Given the description of an element on the screen output the (x, y) to click on. 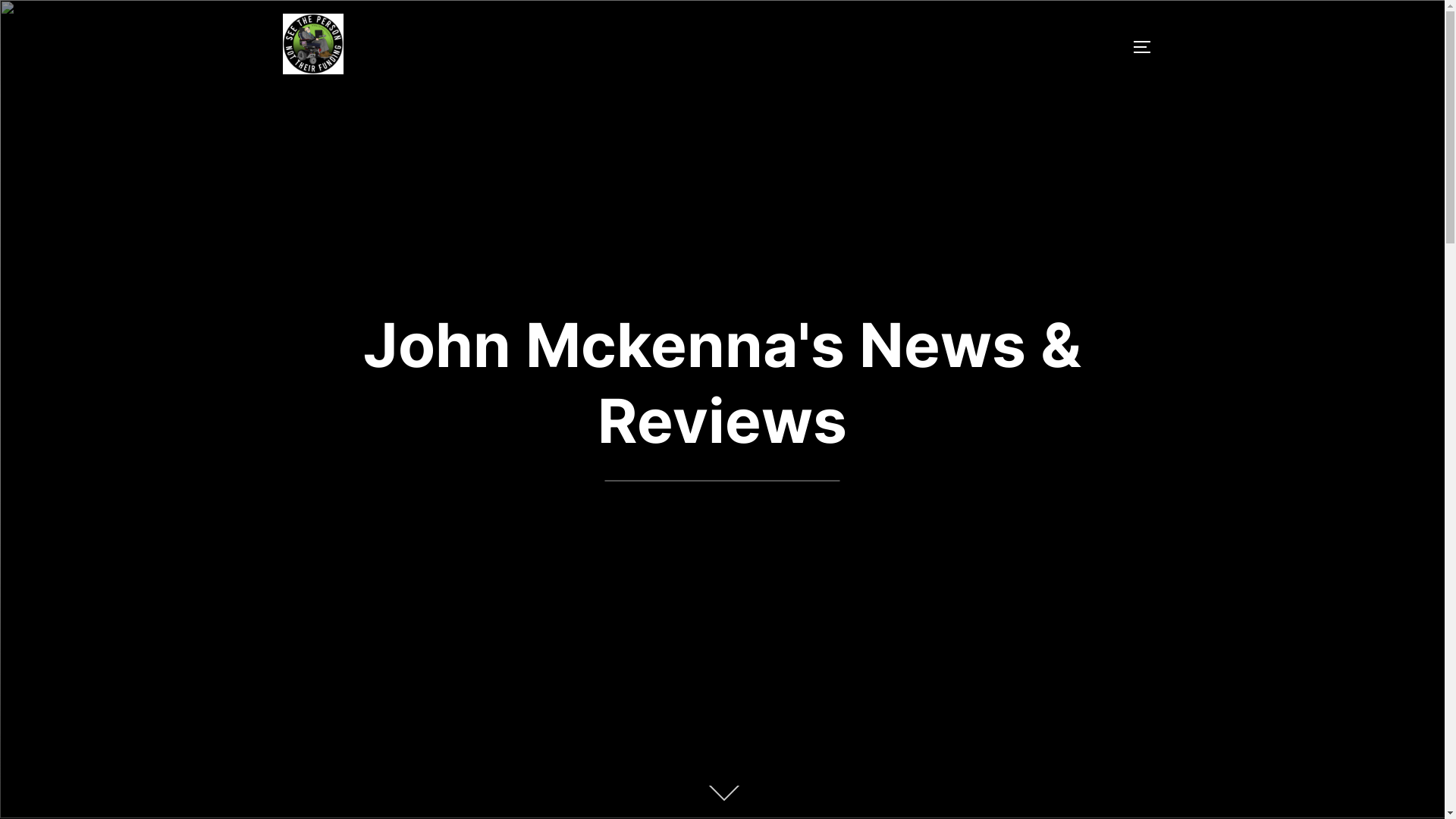
Scroll down to content Element type: hover (721, 794)
John Mckenna's News & Reviews Element type: text (722, 382)
